Given the description of an element on the screen output the (x, y) to click on. 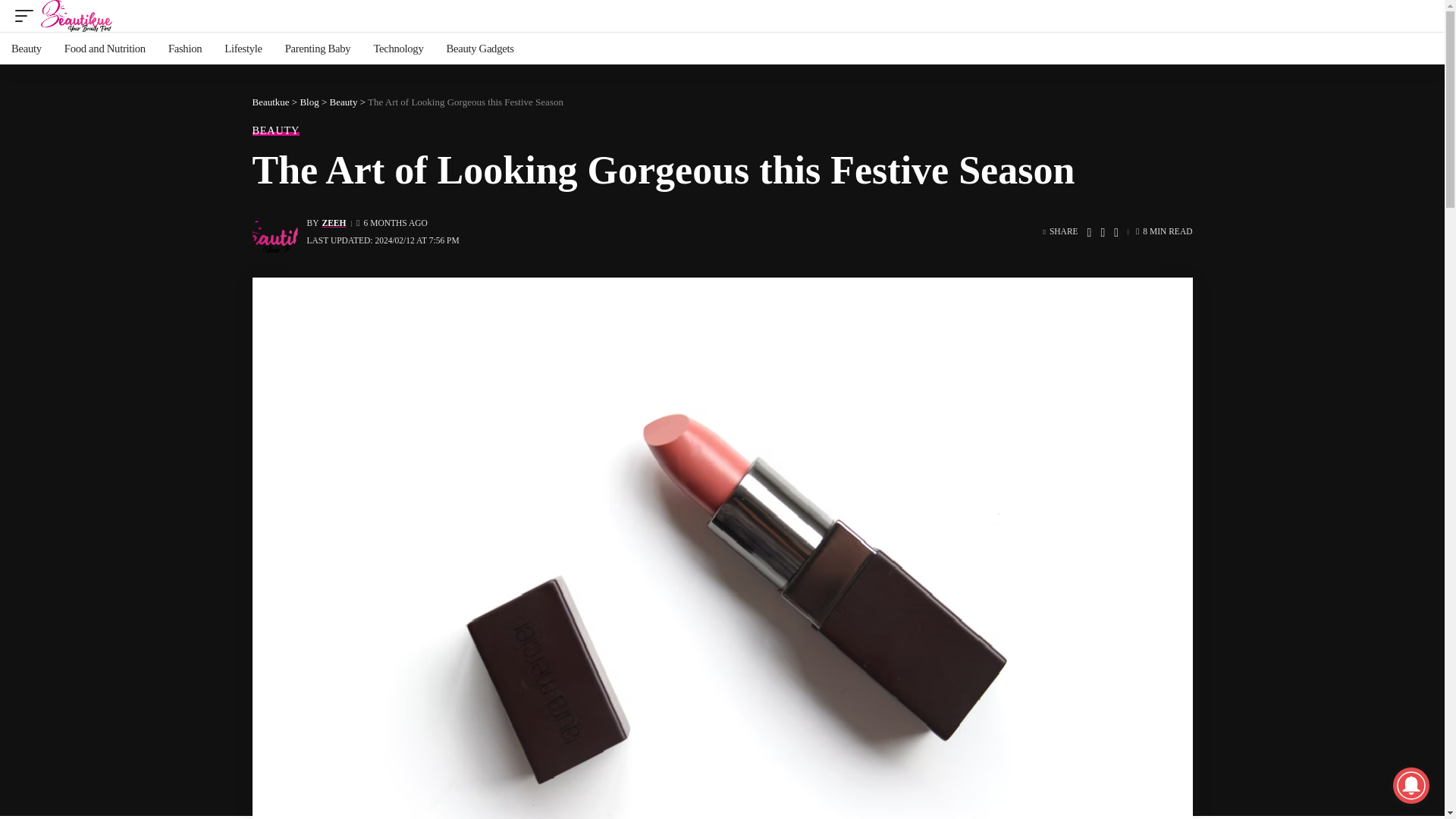
Beauty (344, 101)
Blog (308, 101)
Technology (397, 48)
Beauty (26, 48)
ZEEH (333, 223)
Go to the Beauty Category archives. (344, 101)
Food and Nutrition (104, 48)
Beautkue (269, 101)
Parenting Baby (317, 48)
Lifestyle (242, 48)
